Given the description of an element on the screen output the (x, y) to click on. 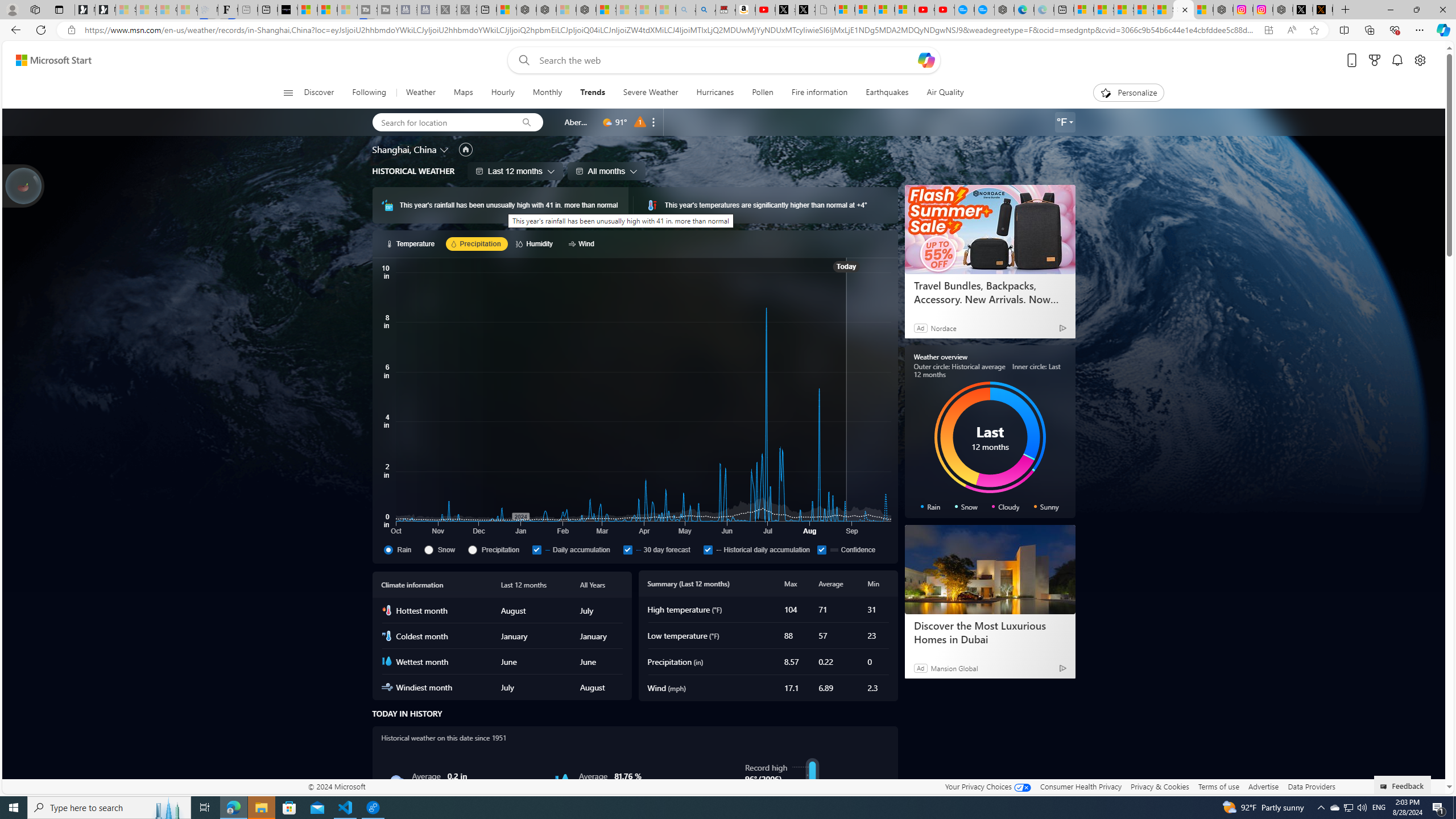
Last 12 months (515, 170)
Open navigation menu (287, 92)
